Given the description of an element on the screen output the (x, y) to click on. 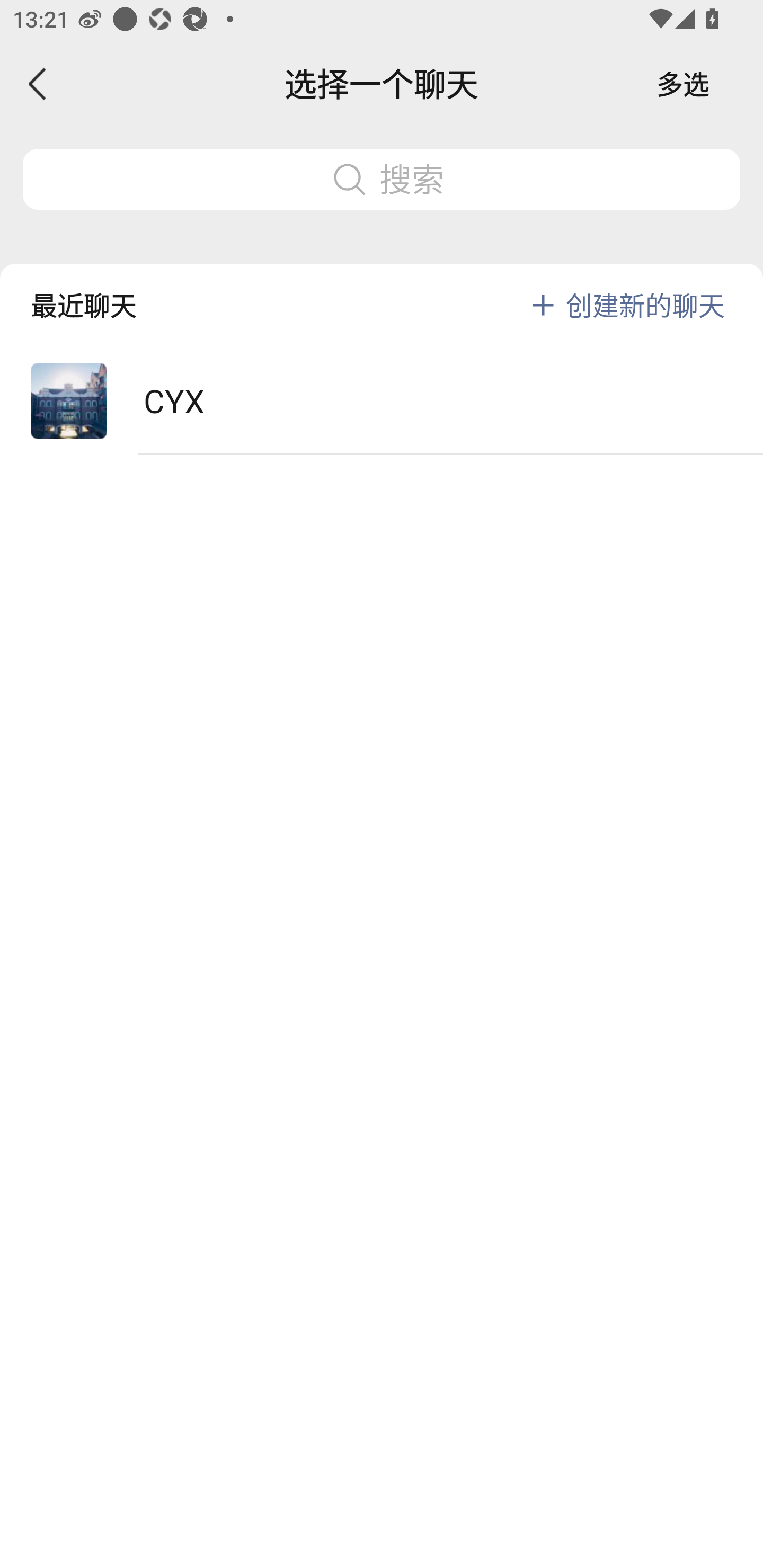
返回 (38, 83)
多选 (683, 83)
创建新的聊天 (645, 304)
CYX (381, 401)
